Given the description of an element on the screen output the (x, y) to click on. 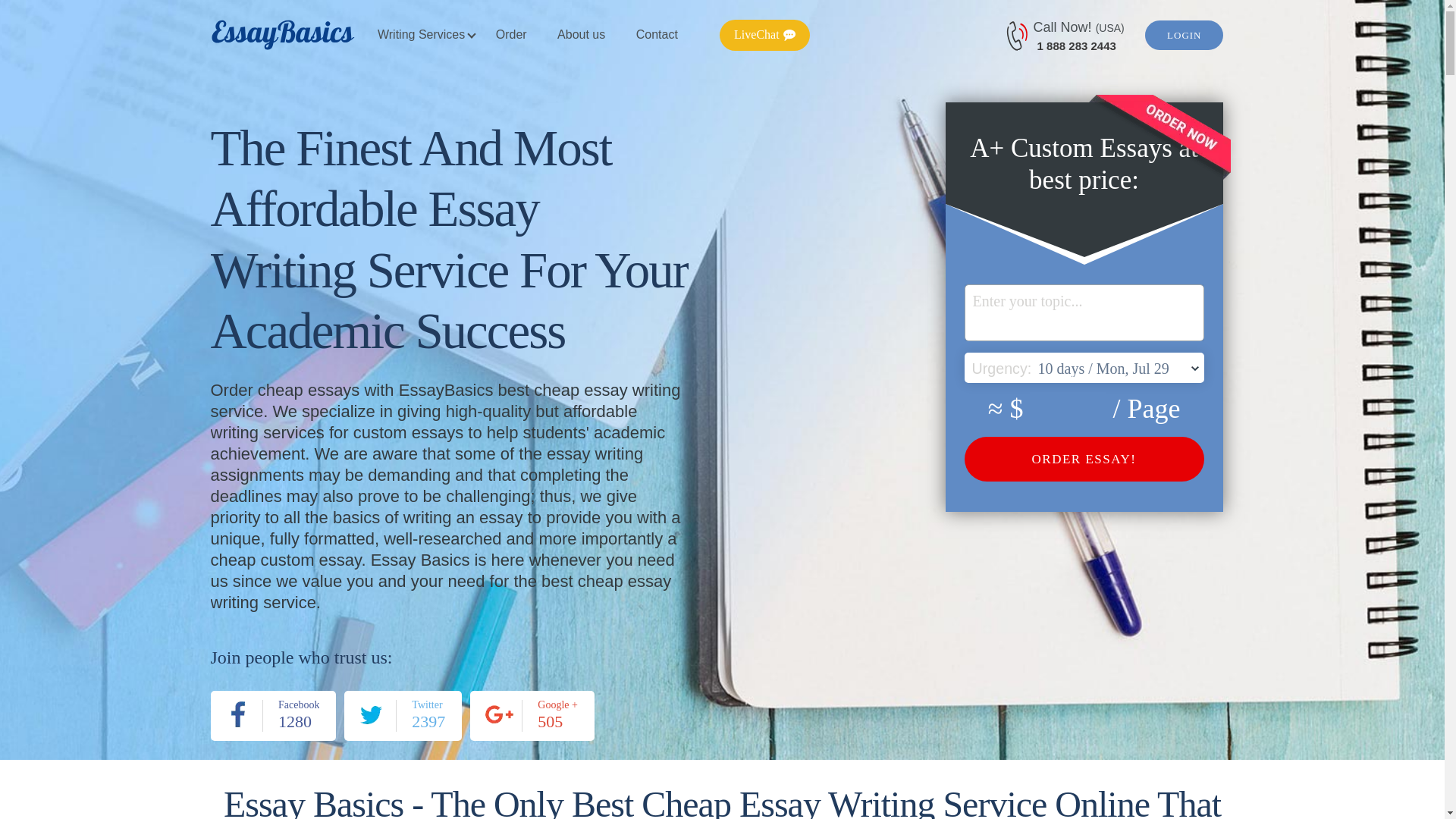
Writing Services (420, 35)
LOGIN (1183, 34)
EssayBasics.com (283, 35)
Order Essay! (1083, 458)
About us (581, 35)
LiveChat (764, 34)
1 888 283 2443 (402, 716)
Order (273, 716)
Contact (1076, 46)
